Given the description of an element on the screen output the (x, y) to click on. 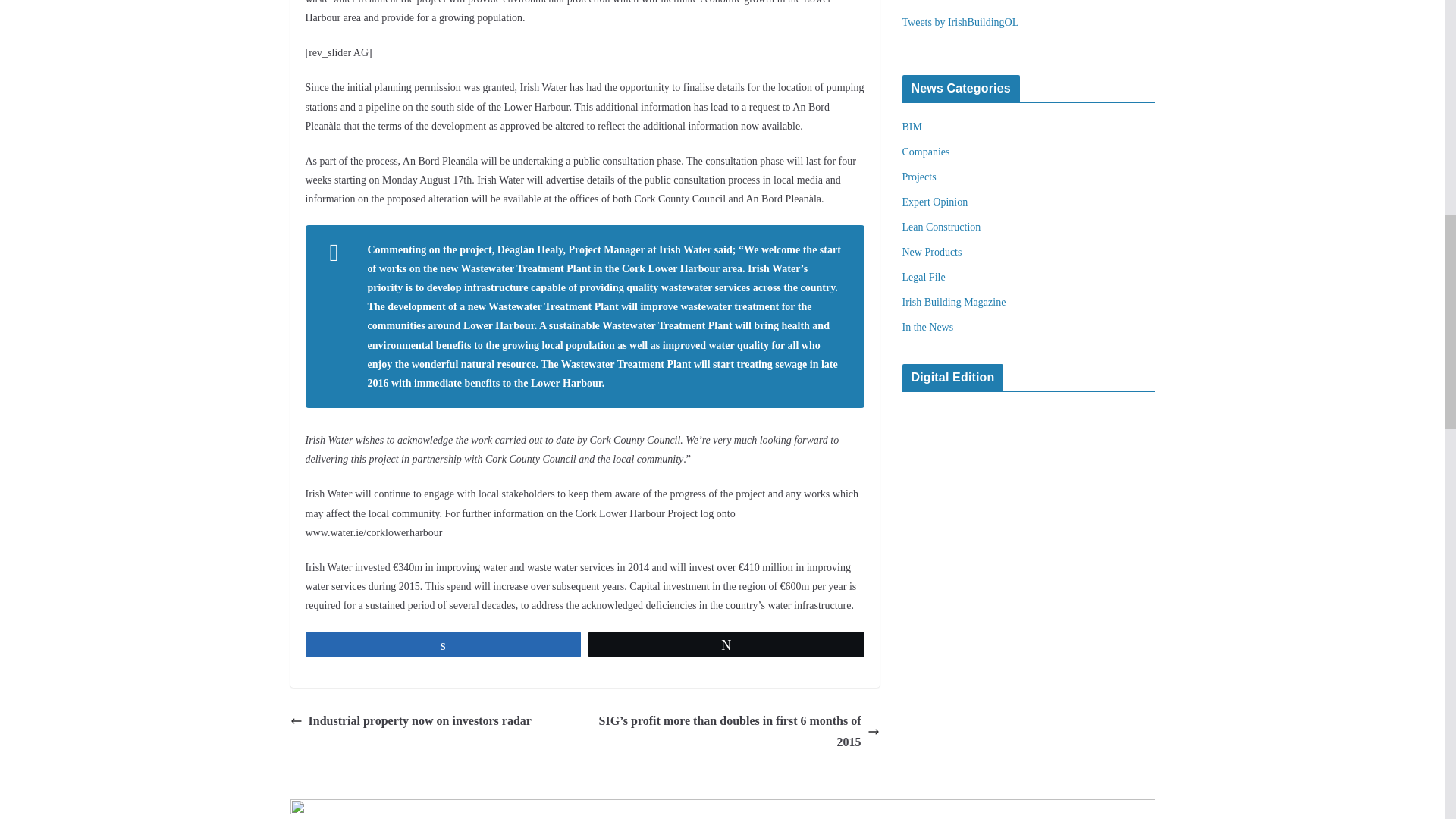
Industrial property now on investors radar (410, 721)
